Given the description of an element on the screen output the (x, y) to click on. 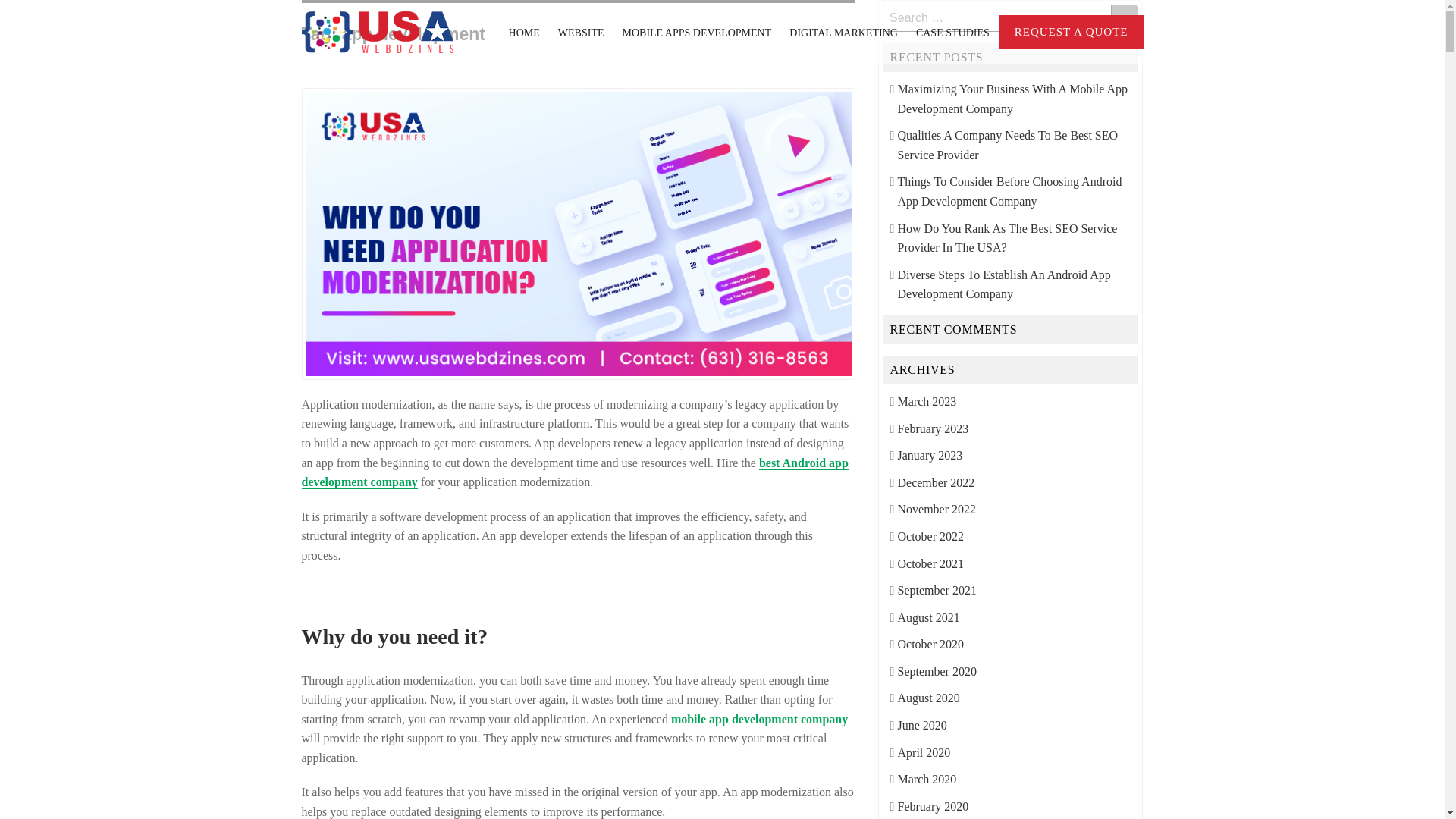
CASE STUDIES (952, 33)
best Android app development company (574, 472)
Search for: (997, 17)
DIGITAL MARKETING (843, 33)
HOME (524, 33)
WEBSITE (581, 33)
mobile app development company (759, 718)
MOBILE APPS DEVELOPMENT (695, 33)
